Given the description of an element on the screen output the (x, y) to click on. 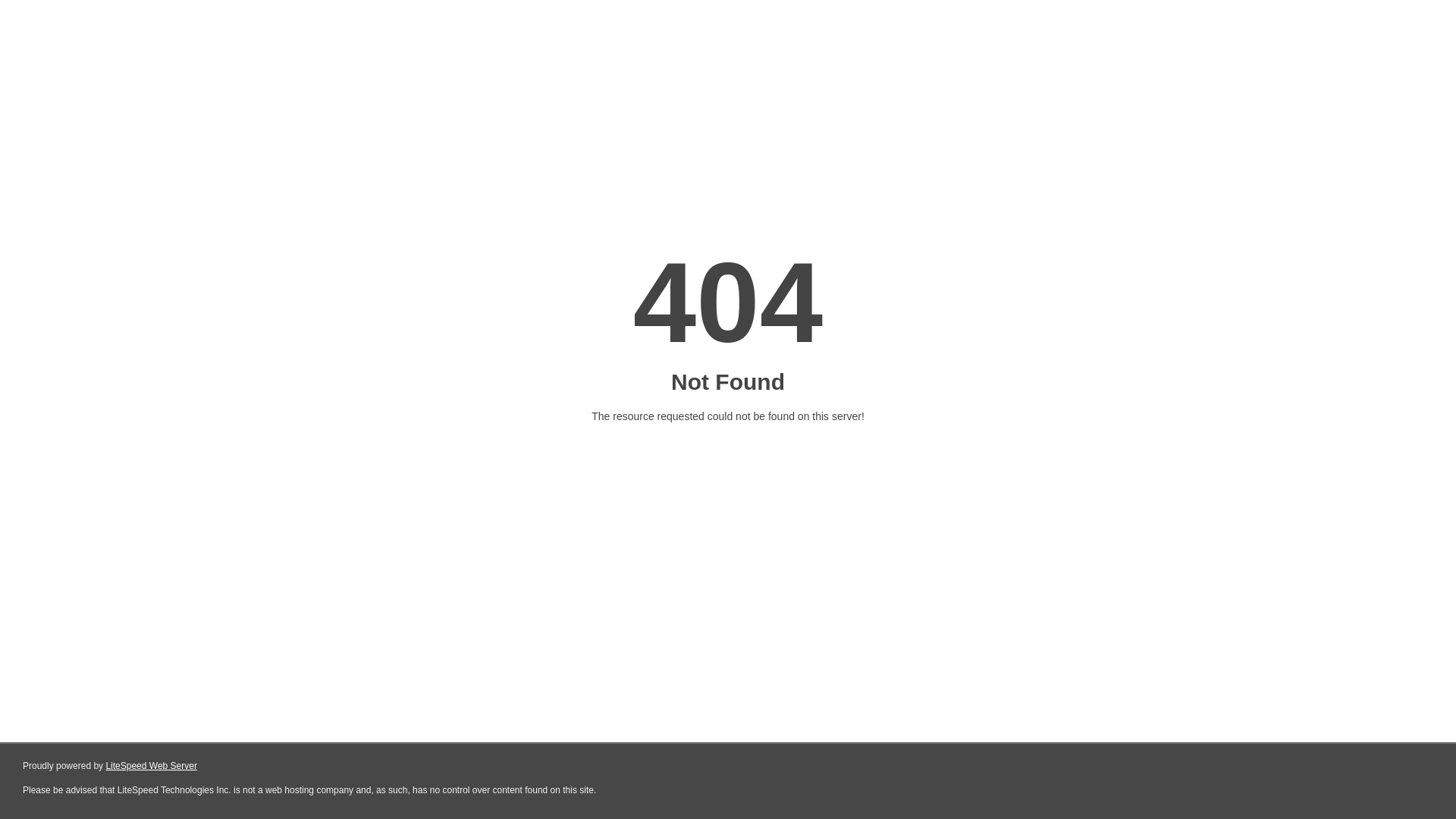
LiteSpeed Web Server Element type: text (151, 765)
